Given the description of an element on the screen output the (x, y) to click on. 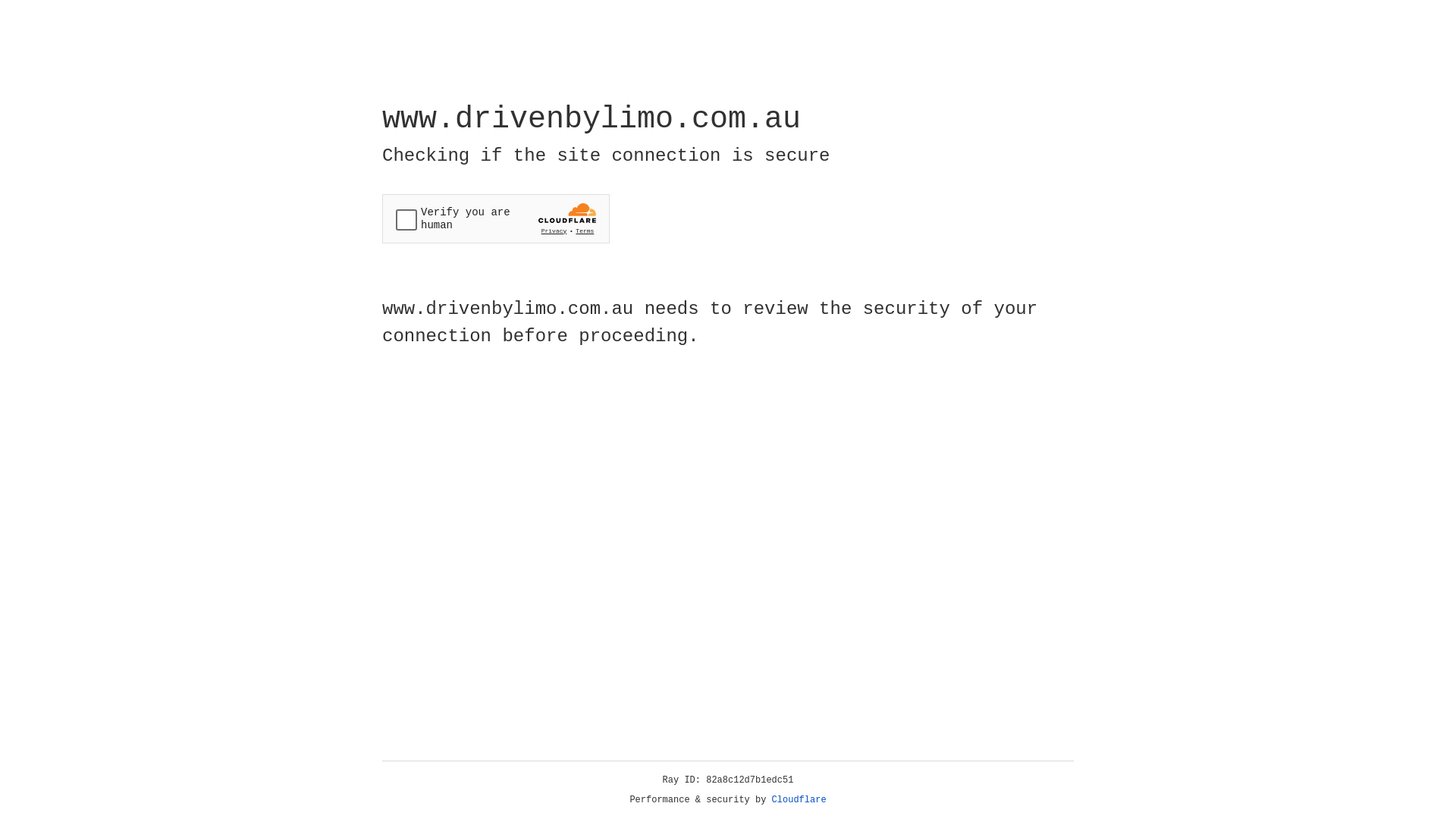
Cloudflare Element type: text (798, 799)
Widget containing a Cloudflare security challenge Element type: hover (495, 218)
